Given the description of an element on the screen output the (x, y) to click on. 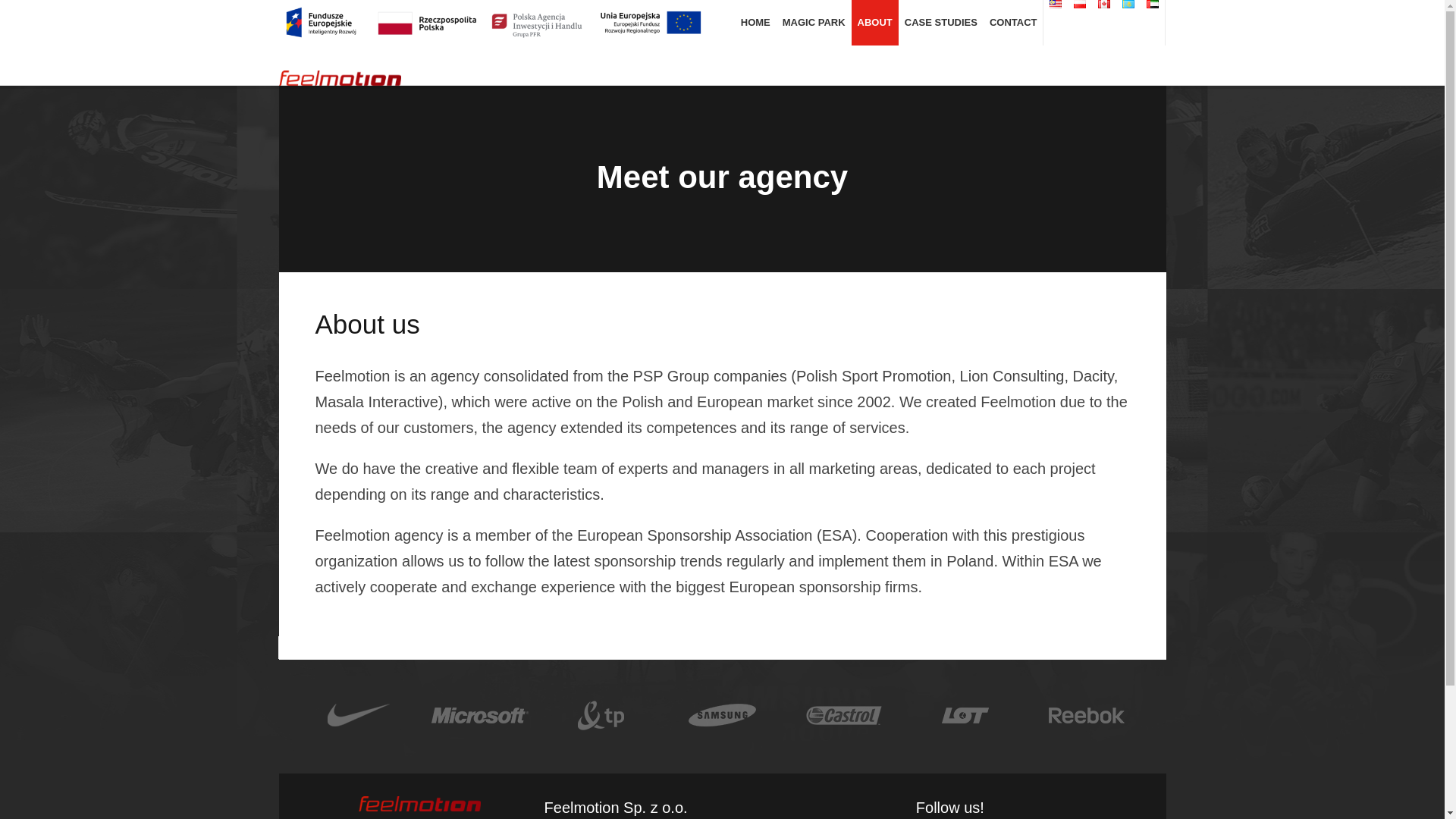
CASE STUDIES (941, 22)
MAGIC PARK (813, 22)
HOME (755, 22)
ABOUT (874, 22)
CONTACT (1013, 22)
